Given the description of an element on the screen output the (x, y) to click on. 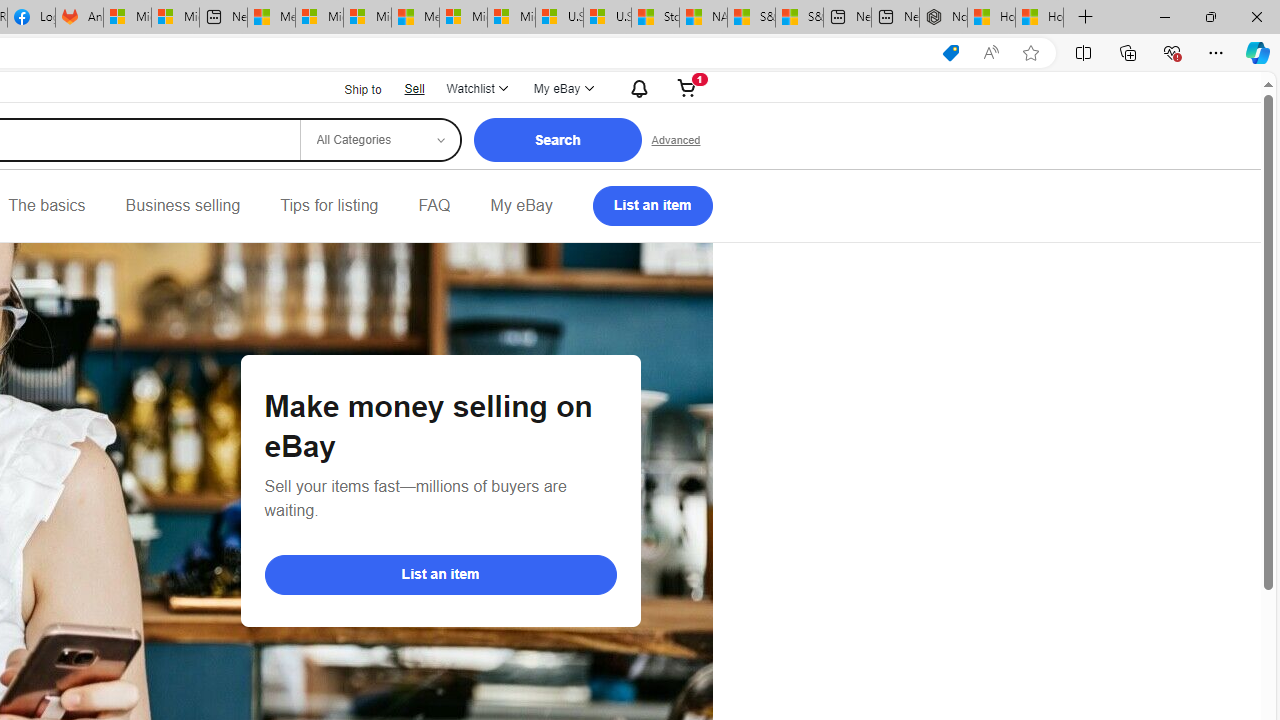
List an item (439, 574)
Ship to (349, 89)
My eBayExpand My eBay (562, 88)
My eBay (521, 205)
FAQ (434, 205)
Advanced Search (675, 139)
The basics (46, 205)
Tips for listing (329, 205)
Sell (413, 87)
